Given the description of an element on the screen output the (x, y) to click on. 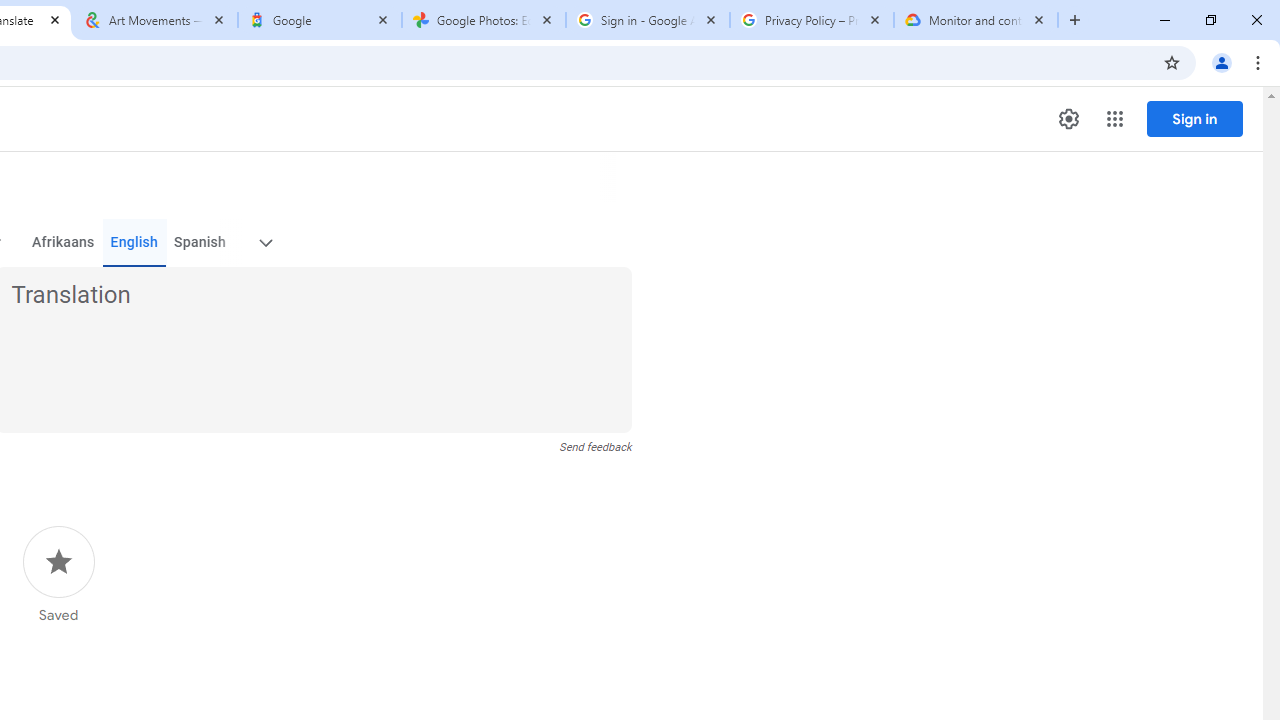
Afrikaans (62, 242)
More target languages (264, 242)
